Given the description of an element on the screen output the (x, y) to click on. 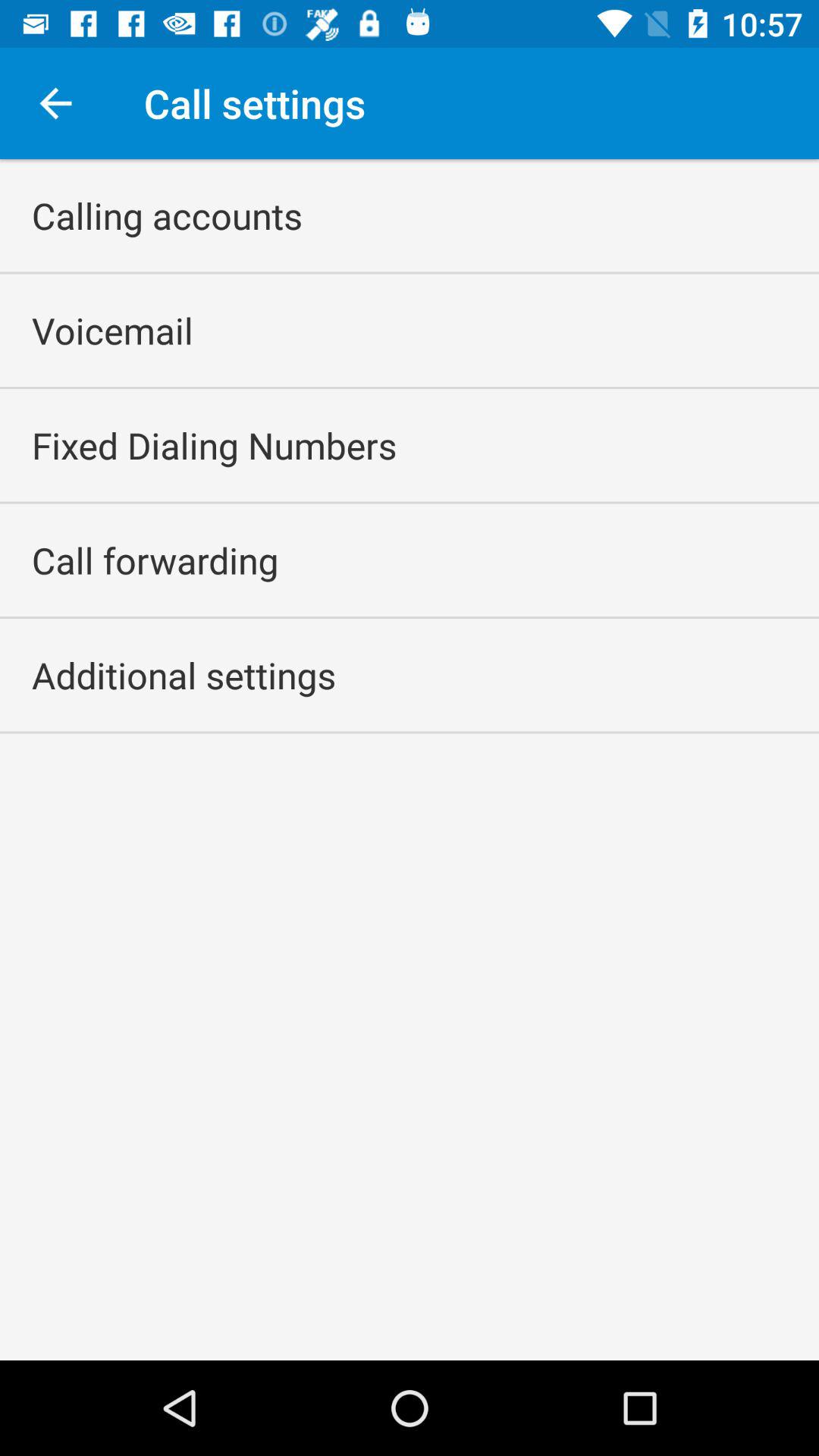
choose voicemail icon (112, 329)
